Given the description of an element on the screen output the (x, y) to click on. 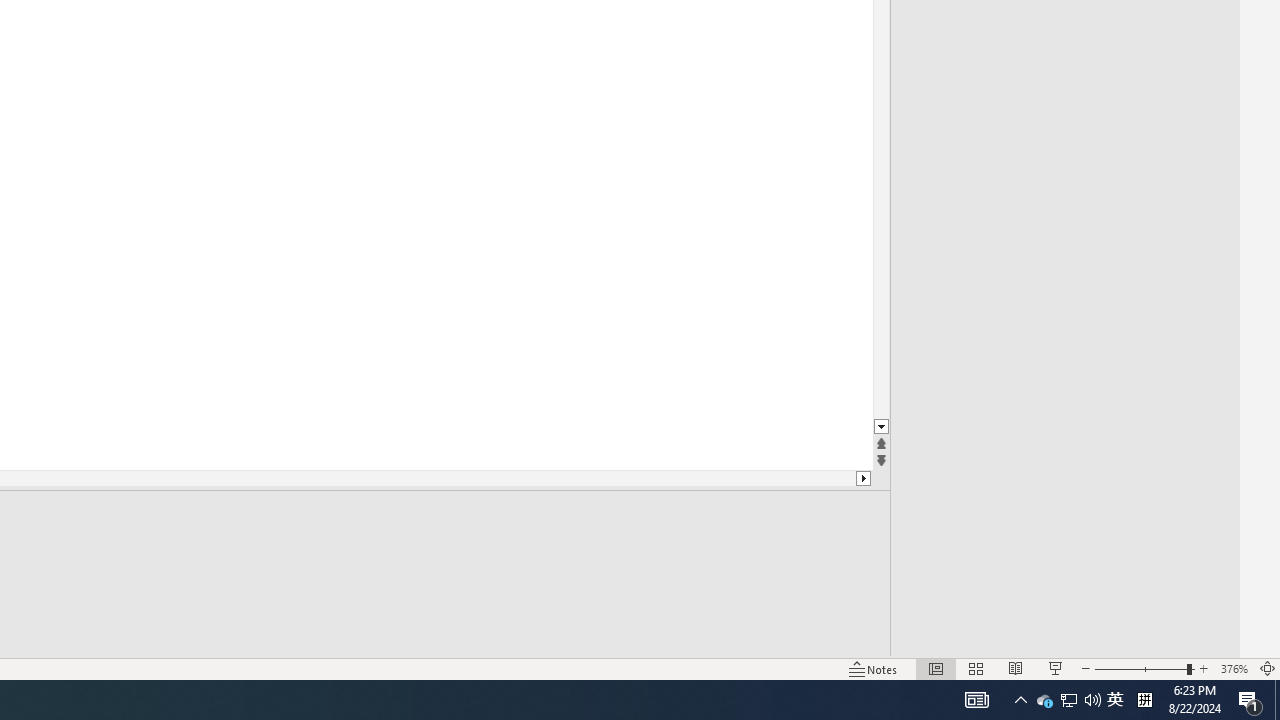
Zoom 376% (1234, 668)
